Given the description of an element on the screen output the (x, y) to click on. 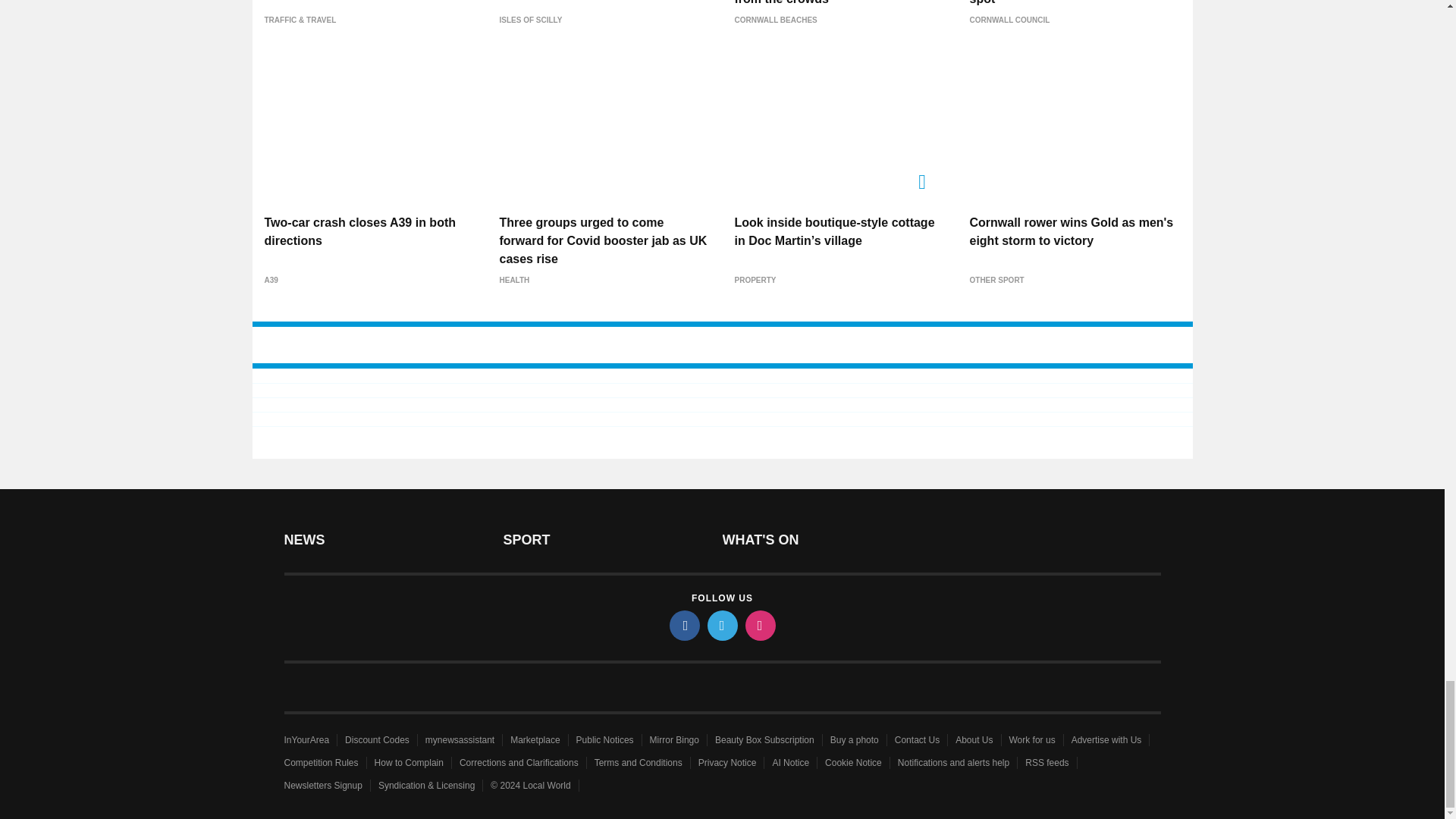
twitter (721, 625)
facebook (683, 625)
instagram (759, 625)
